Given the description of an element on the screen output the (x, y) to click on. 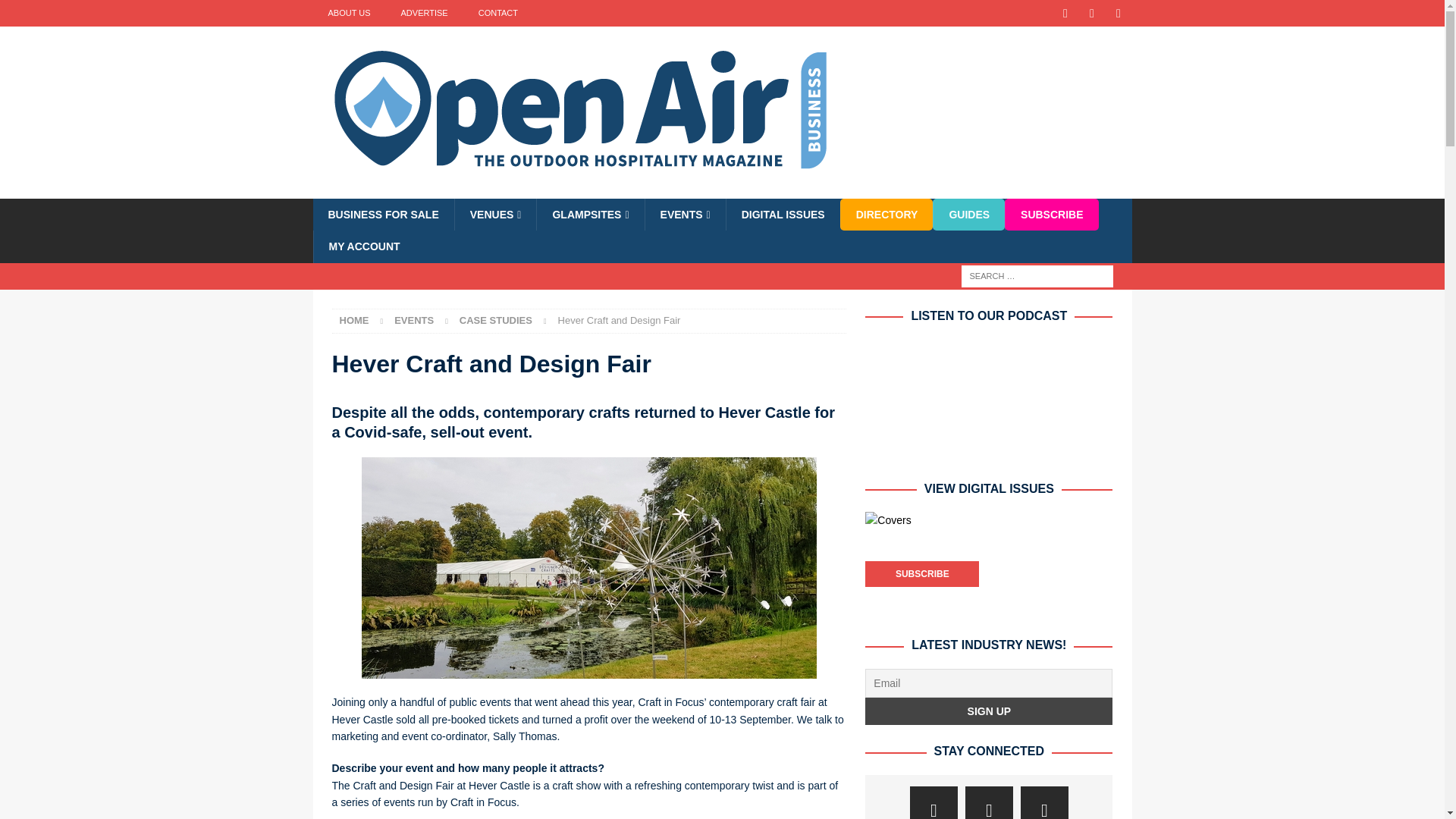
DIGITAL ISSUES (782, 214)
ABOUT US (349, 13)
GLAMPSITES (589, 214)
Home (354, 319)
GUIDES (968, 214)
Subscribe (921, 574)
Search (56, 11)
HOME (354, 319)
EVENTS (685, 214)
MY ACCOUNT (363, 246)
EVENTS (413, 319)
ADVERTISE (424, 13)
SUBSCRIBE (1050, 214)
Sign Up (988, 710)
VENUES (495, 214)
